Given the description of an element on the screen output the (x, y) to click on. 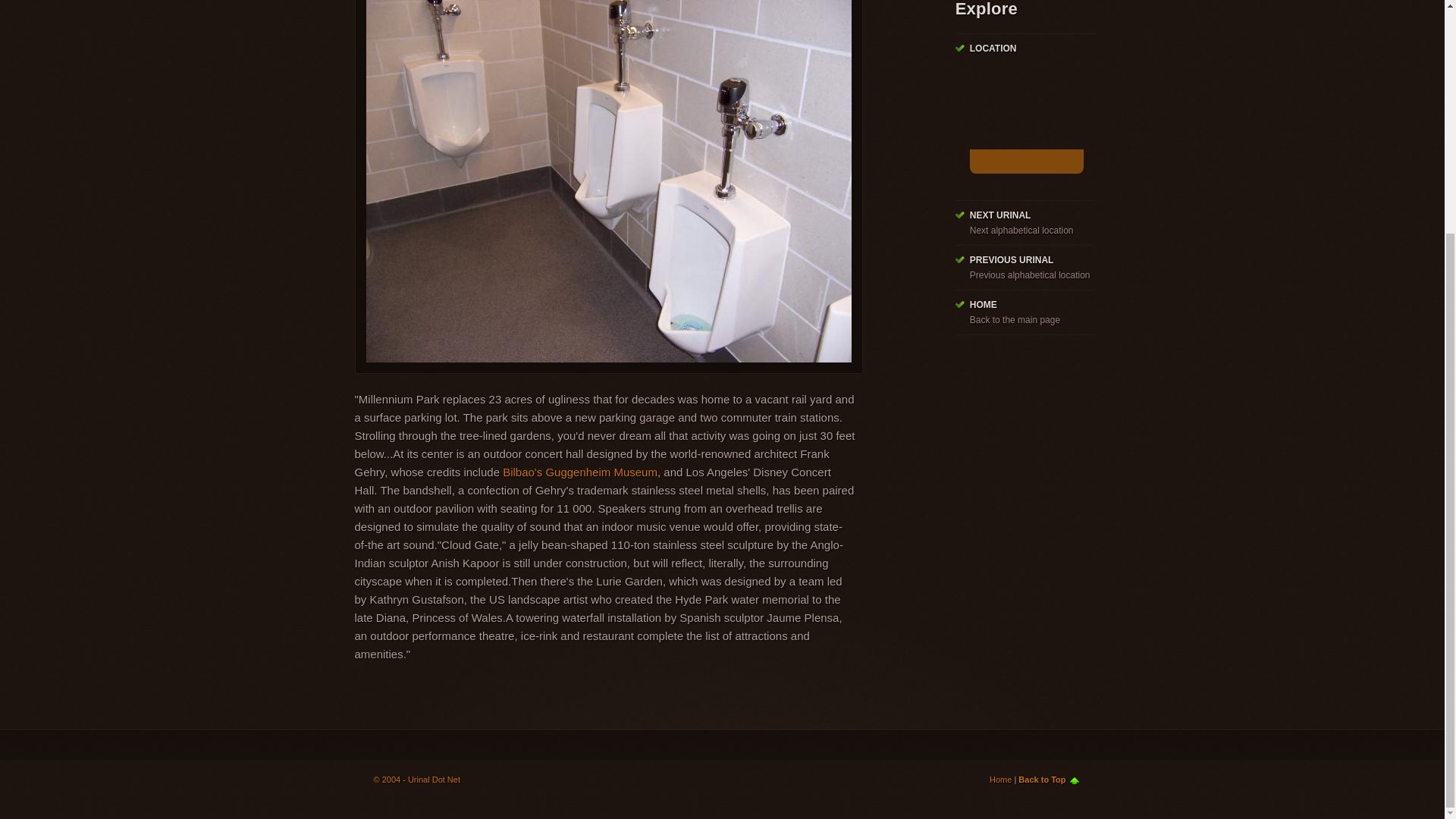
HOME (983, 304)
Home (1000, 778)
Back to Top (1047, 778)
PREVIOUS URINAL (1011, 259)
Click for map (1026, 161)
Click for map (1026, 121)
NEXT URINAL (999, 214)
Bilbao's Guggenheim Museum (580, 472)
LOCATION (992, 48)
